Given the description of an element on the screen output the (x, y) to click on. 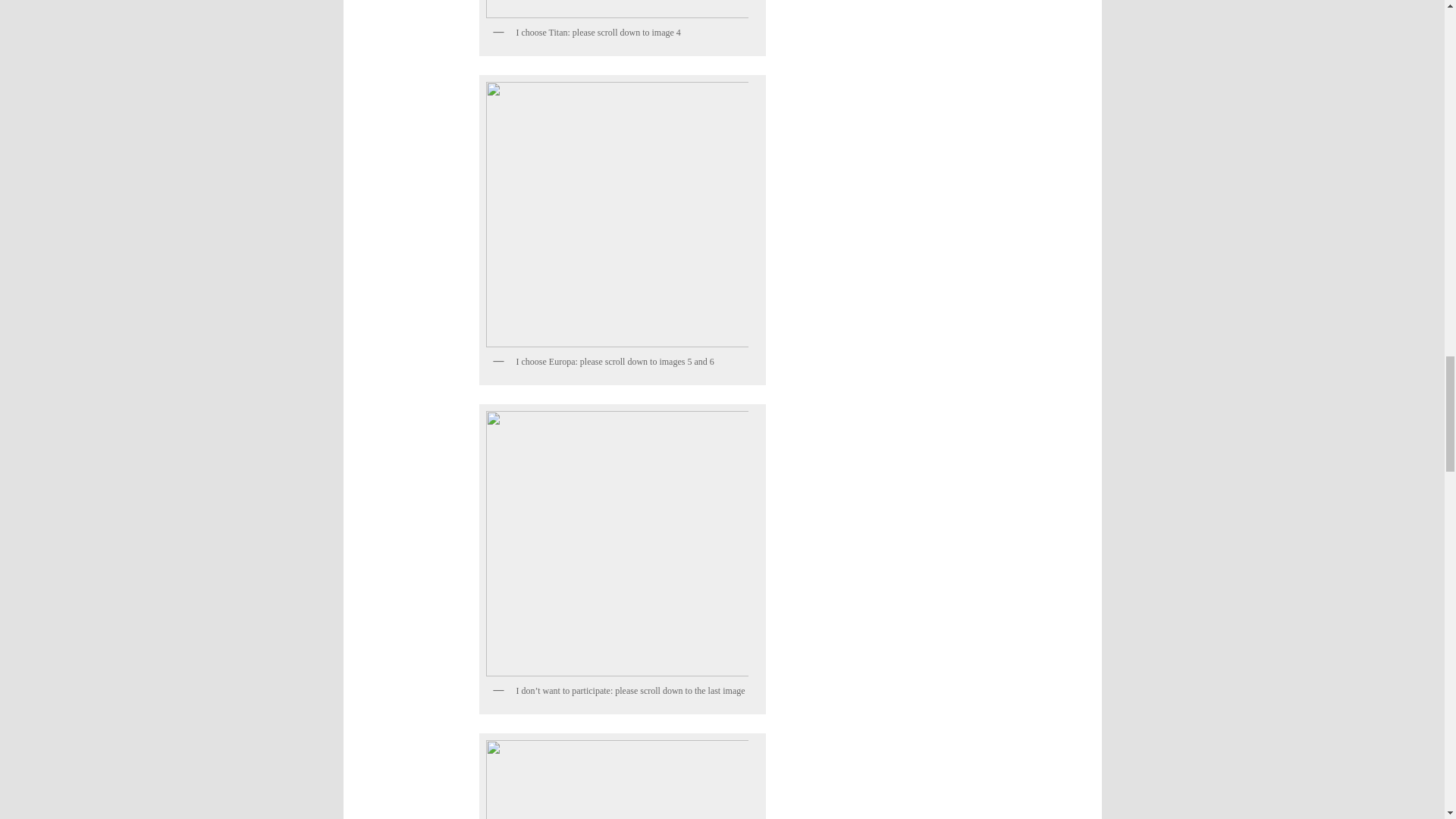
Artist's impression of Titan's surface (616, 779)
No (616, 543)
Europa (616, 214)
Titan (616, 9)
